Given the description of an element on the screen output the (x, y) to click on. 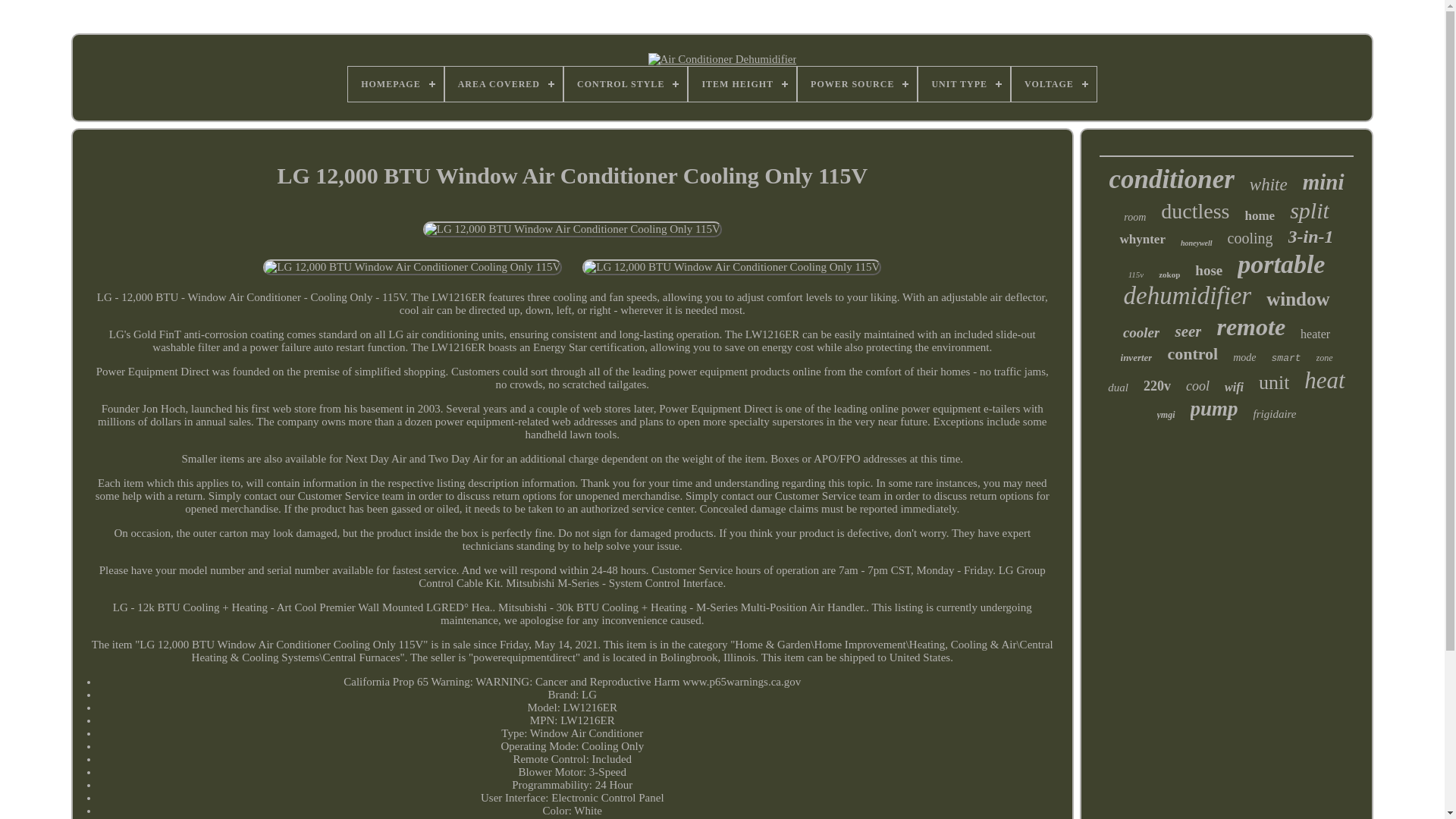
LG 12,000 BTU Window Air Conditioner Cooling Only 115V (412, 267)
LG 12,000 BTU Window Air Conditioner Cooling Only 115V (572, 229)
AREA COVERED (503, 83)
HOMEPAGE (394, 83)
LG 12,000 BTU Window Air Conditioner Cooling Only 115V (731, 267)
CONTROL STYLE (625, 83)
